Given the description of an element on the screen output the (x, y) to click on. 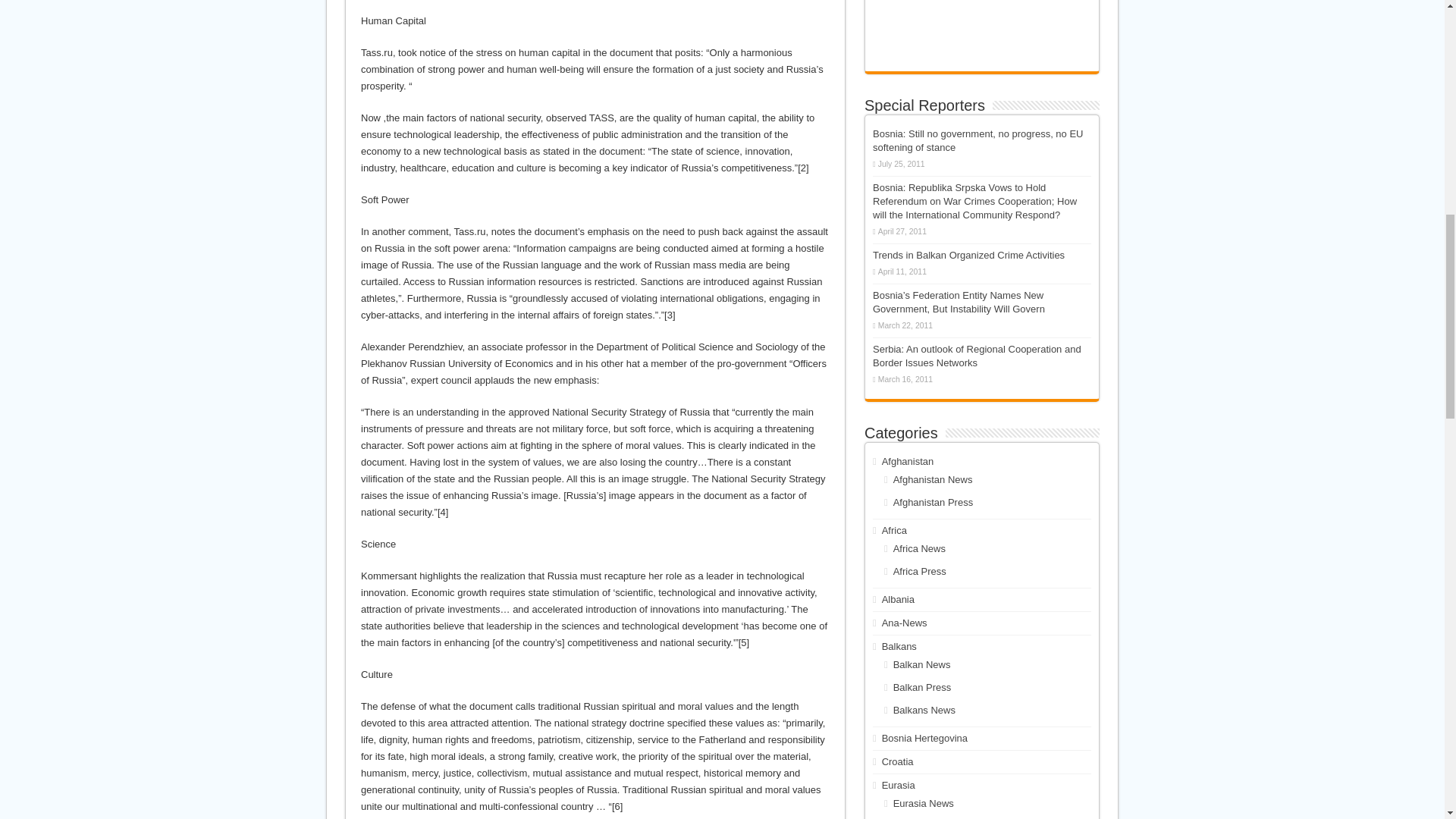
Scroll To Top (1421, 60)
